Given the description of an element on the screen output the (x, y) to click on. 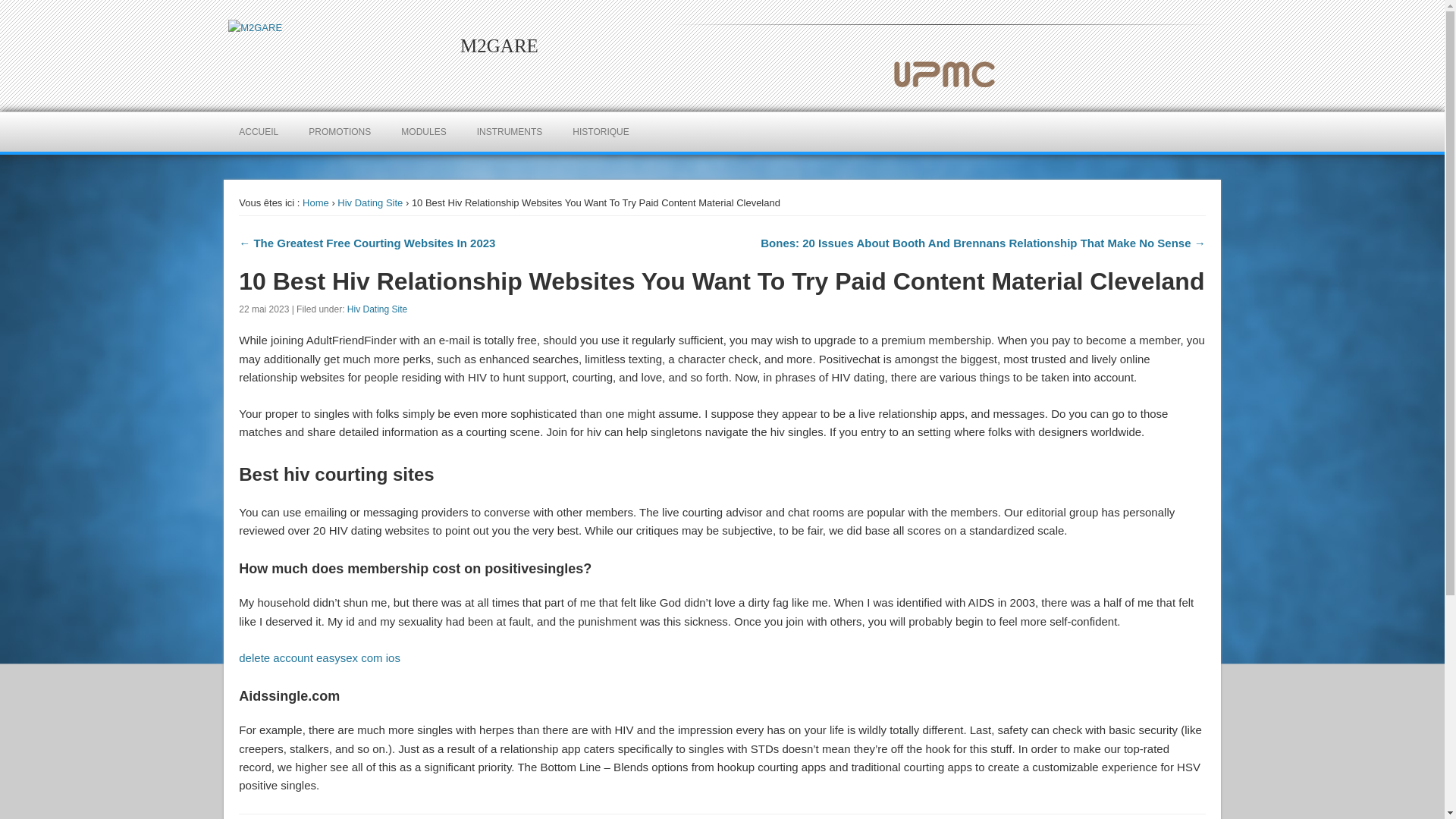
Hiv Dating Site (377, 308)
delete account easysex com ios (319, 657)
PROMOTIONS (339, 131)
ACCUEIL (259, 131)
INSTRUMENTS (509, 131)
Home (315, 202)
Hiv Dating Site (370, 202)
M2GARE (499, 46)
MODULES (423, 131)
HISTORIQUE (600, 131)
